Given the description of an element on the screen output the (x, y) to click on. 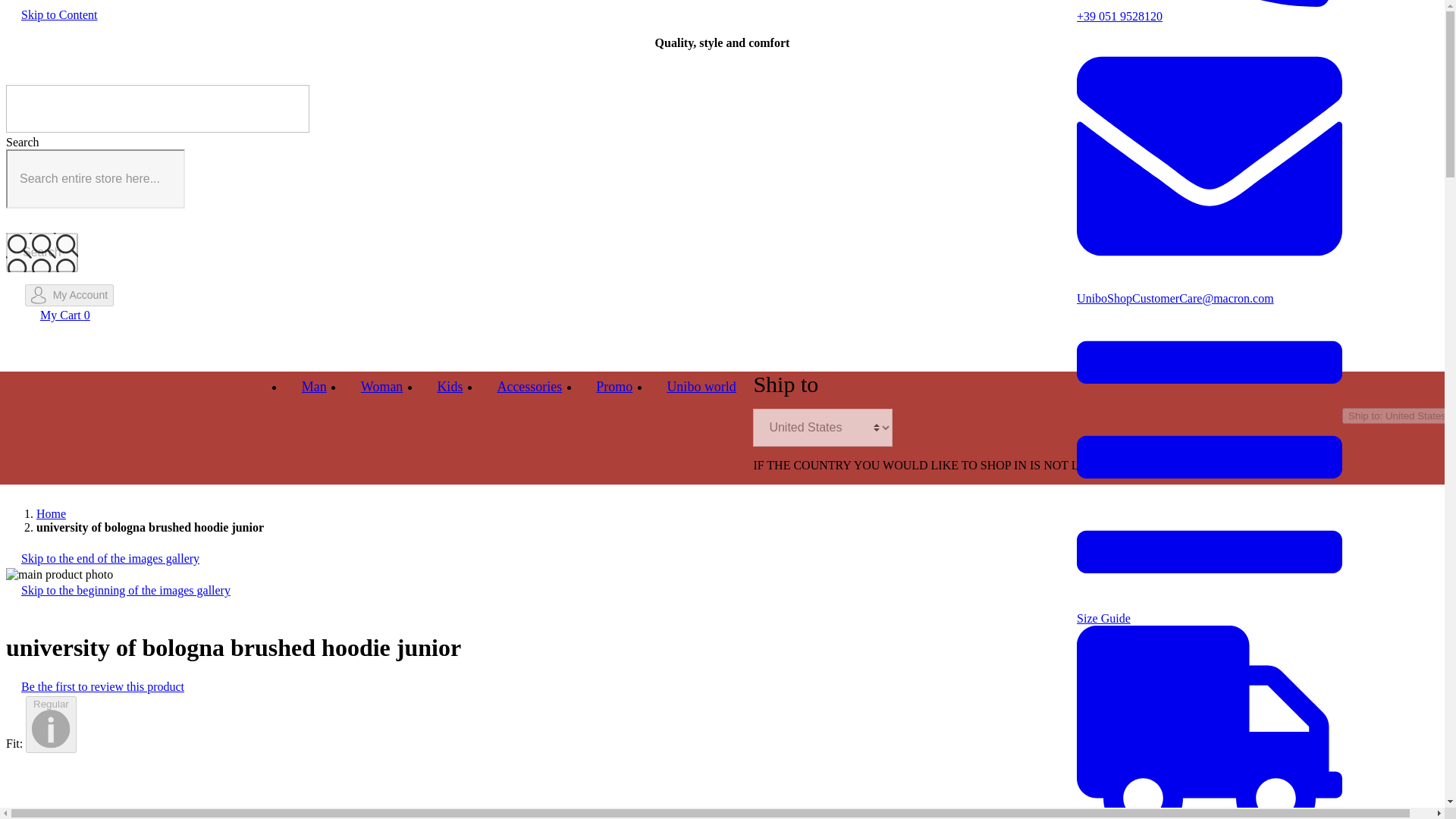
Skip to Content (58, 15)
Ship to: United States (1396, 415)
Size Guide (1209, 610)
Go to Home Page (50, 513)
Search (41, 251)
